Given the description of an element on the screen output the (x, y) to click on. 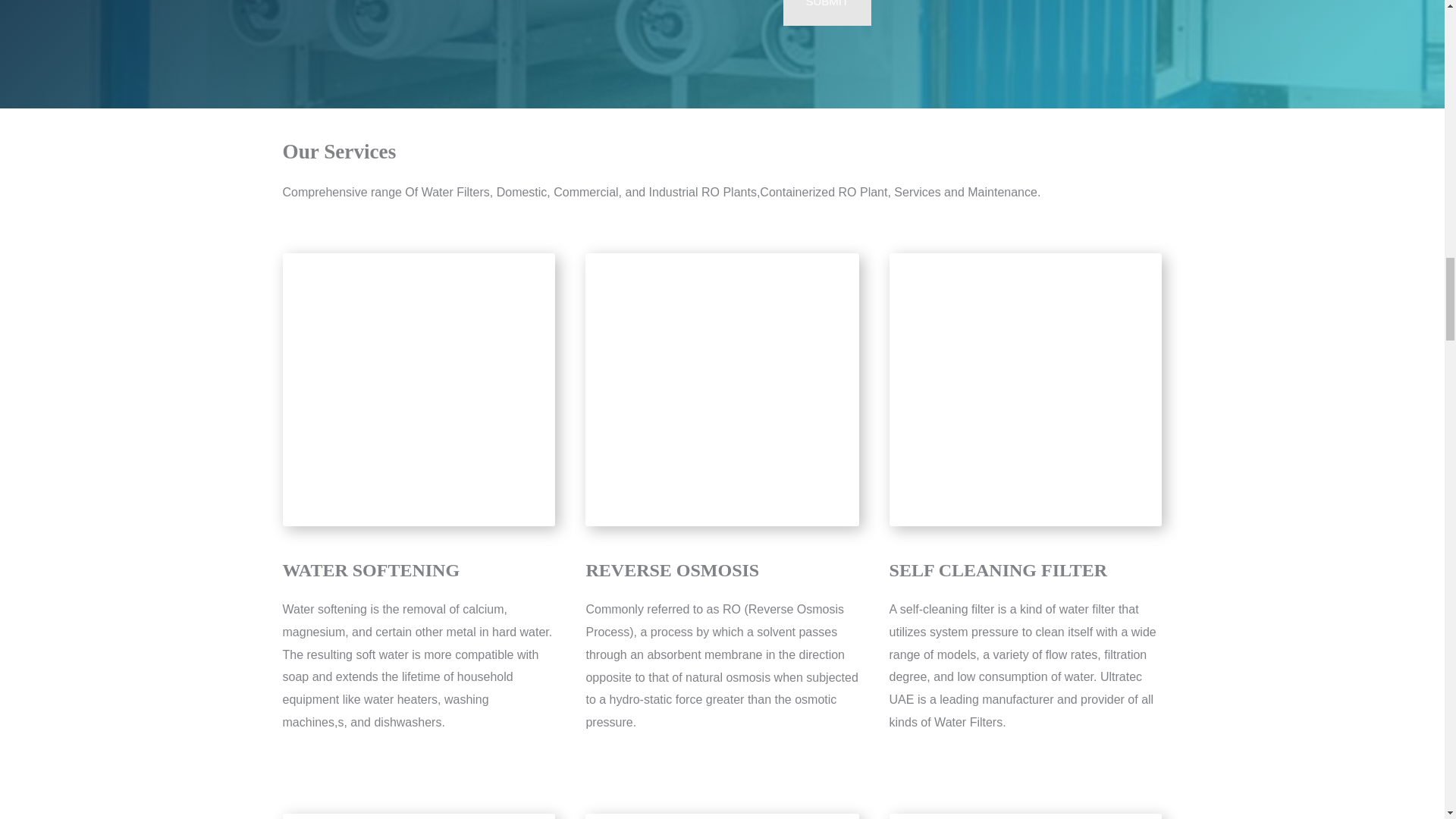
Water de-ionization (722, 816)
reverse-osmosis-ro (722, 389)
self-cleaning-filter (1025, 389)
water-softener (418, 389)
mix-bed-deionizer (1025, 816)
copper-silver-ionization-mineral-pure (418, 816)
Submit (826, 12)
